Given the description of an element on the screen output the (x, y) to click on. 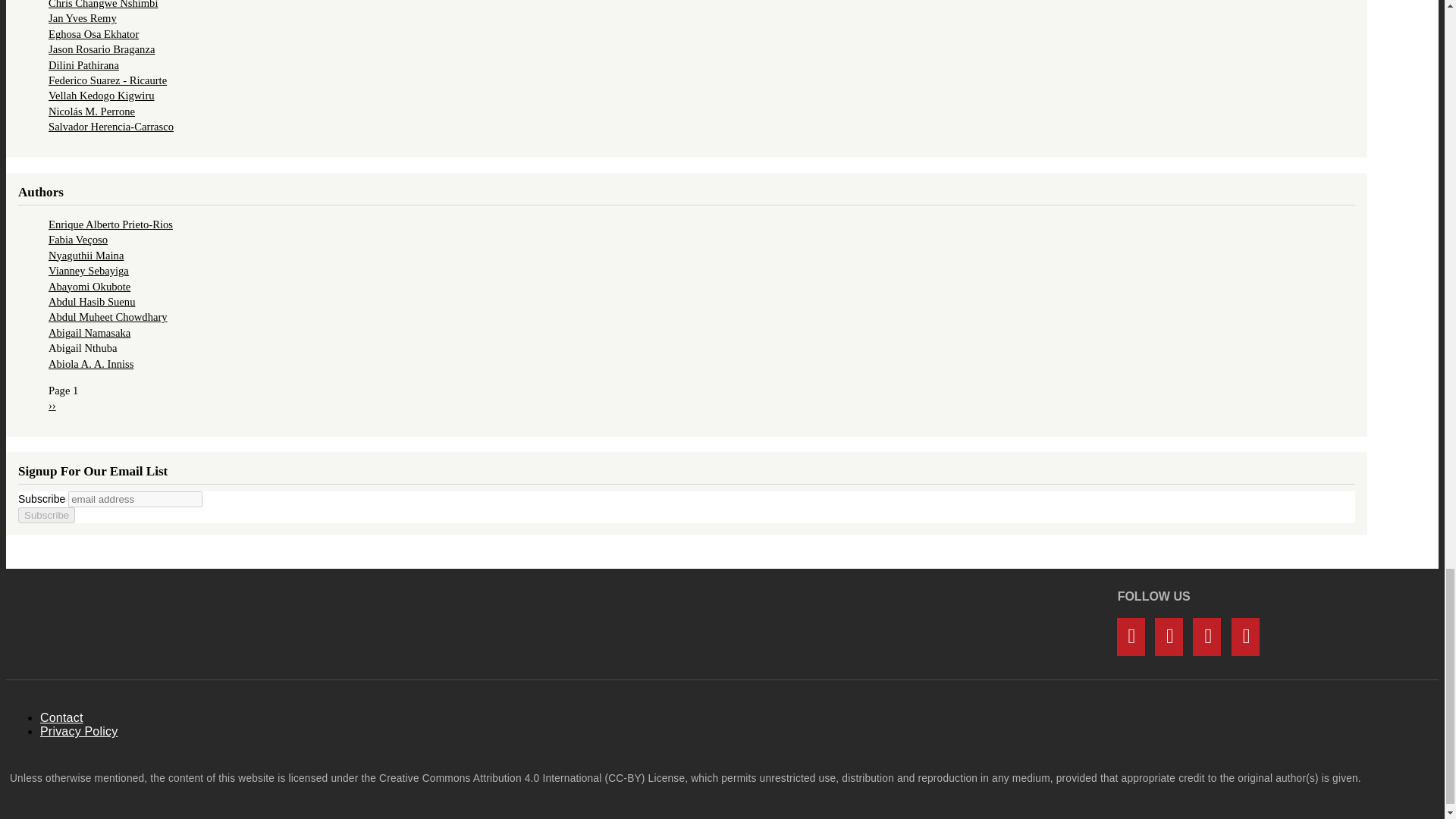
Subscribe (46, 514)
